Given the description of an element on the screen output the (x, y) to click on. 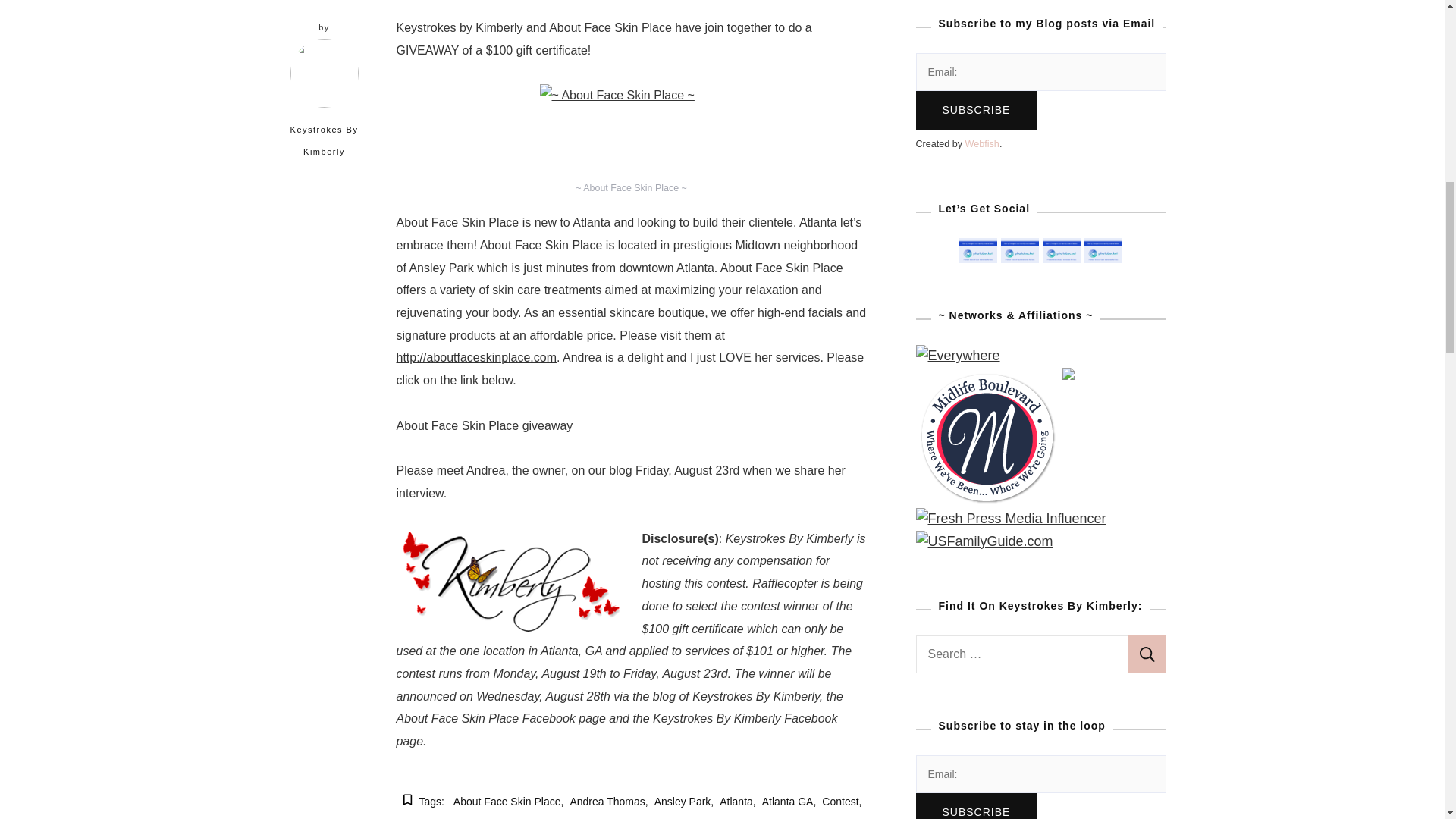
Subscribe (975, 806)
Search (1147, 654)
Search (1147, 654)
Subscribe (975, 109)
